Given the description of an element on the screen output the (x, y) to click on. 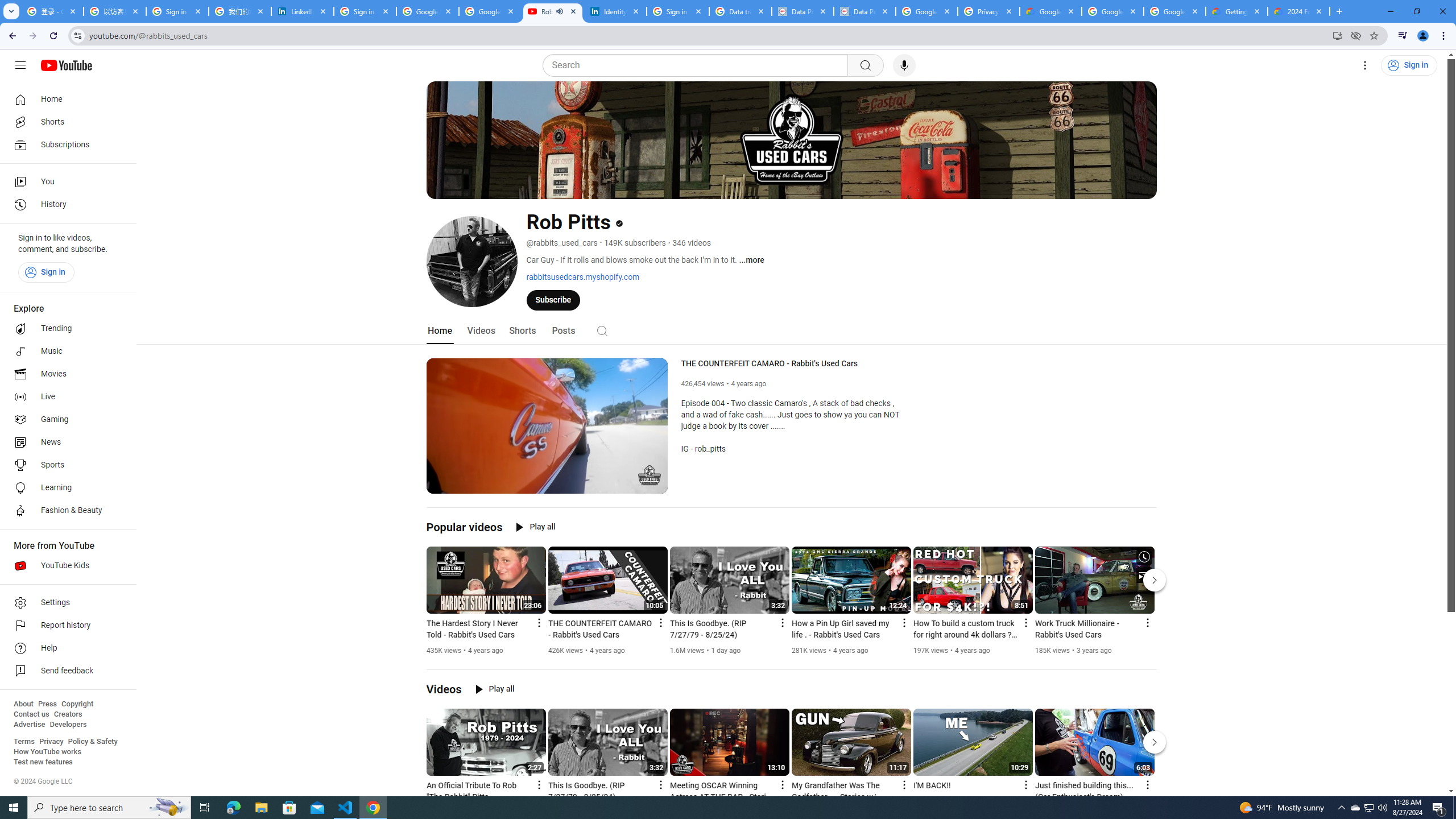
Test new features (42, 761)
Next (1154, 741)
Play all (494, 688)
History (64, 204)
Sports (64, 464)
Report history (64, 625)
Install YouTube (1336, 35)
Send feedback (64, 671)
